Given the description of an element on the screen output the (x, y) to click on. 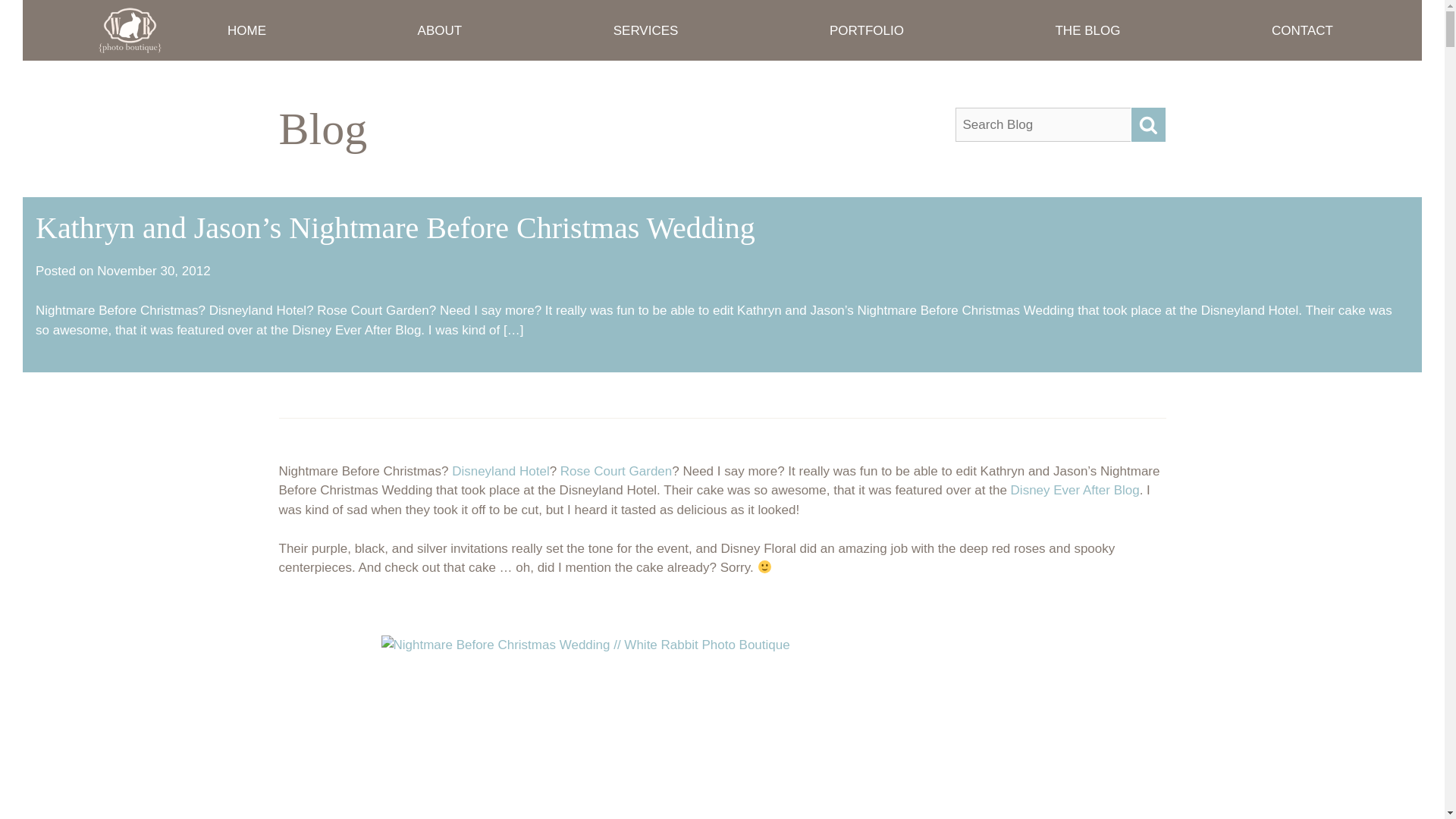
ABOUT (440, 30)
White Rabbit Photo Boutique (181, 81)
THE BLOG (1087, 30)
Disney Ever After Blog (1075, 490)
Disneyland Hotel (500, 471)
SERVICES (645, 30)
Rose Court Garden (615, 471)
CONTACT (1302, 30)
PORTFOLIO (866, 30)
HOME (246, 30)
